Given the description of an element on the screen output the (x, y) to click on. 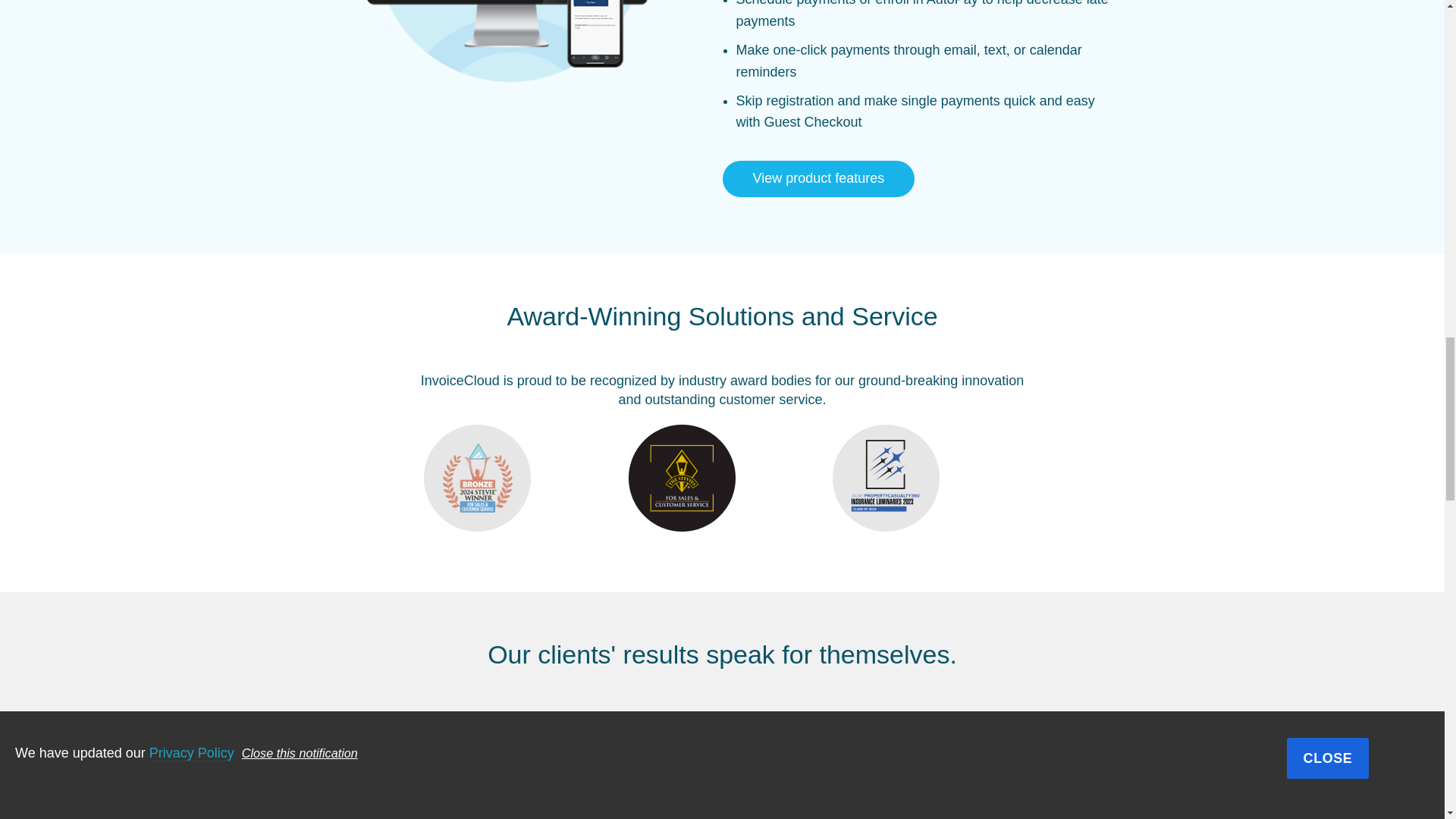
View product features (818, 178)
